Given the description of an element on the screen output the (x, y) to click on. 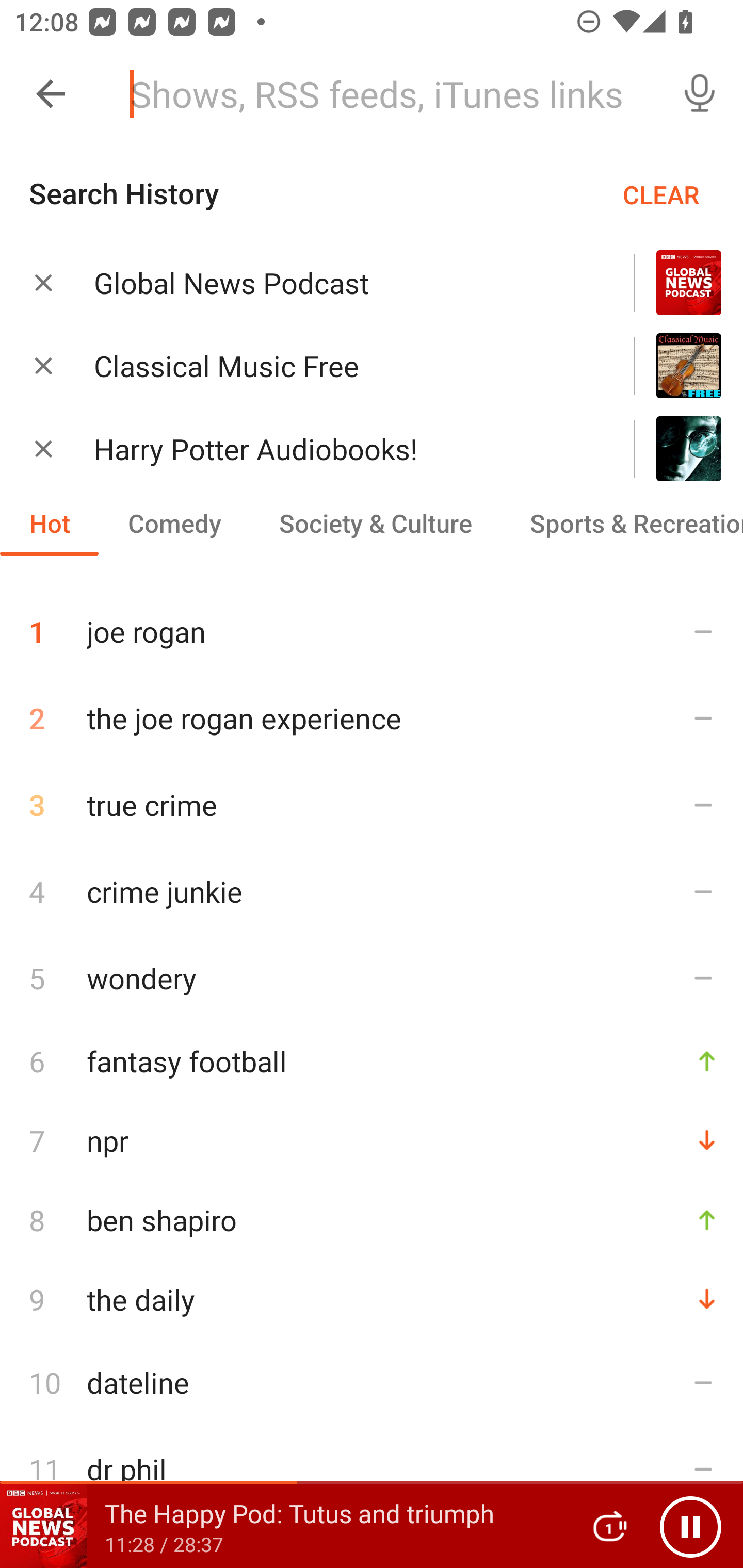
Collapse (50, 93)
Voice Search (699, 93)
Shows, RSS feeds, iTunes links (385, 94)
CLEAR (660, 194)
Global News Podcast (338, 282)
 Clear (43, 282)
Classical Music Free (338, 365)
 Clear (43, 365)
Harry Potter Audiobooks! (338, 448)
 Clear (43, 448)
Hot (49, 522)
Comedy (173, 522)
Society & Culture (374, 522)
Sports & Recreation (621, 522)
1 joe rogan (371, 623)
2 the joe rogan experience (371, 718)
3 true crime (371, 805)
4 crime junkie (371, 891)
5 wondery (371, 977)
6 fantasy football (371, 1060)
7 npr (371, 1140)
8 ben shapiro (371, 1219)
9 the daily (371, 1299)
10 dateline (371, 1382)
11 dr phil (371, 1468)
The Happy Pod: Tutus and triumph 11:28 / 28:37 (283, 1525)
Pause (690, 1526)
